Given the description of an element on the screen output the (x, y) to click on. 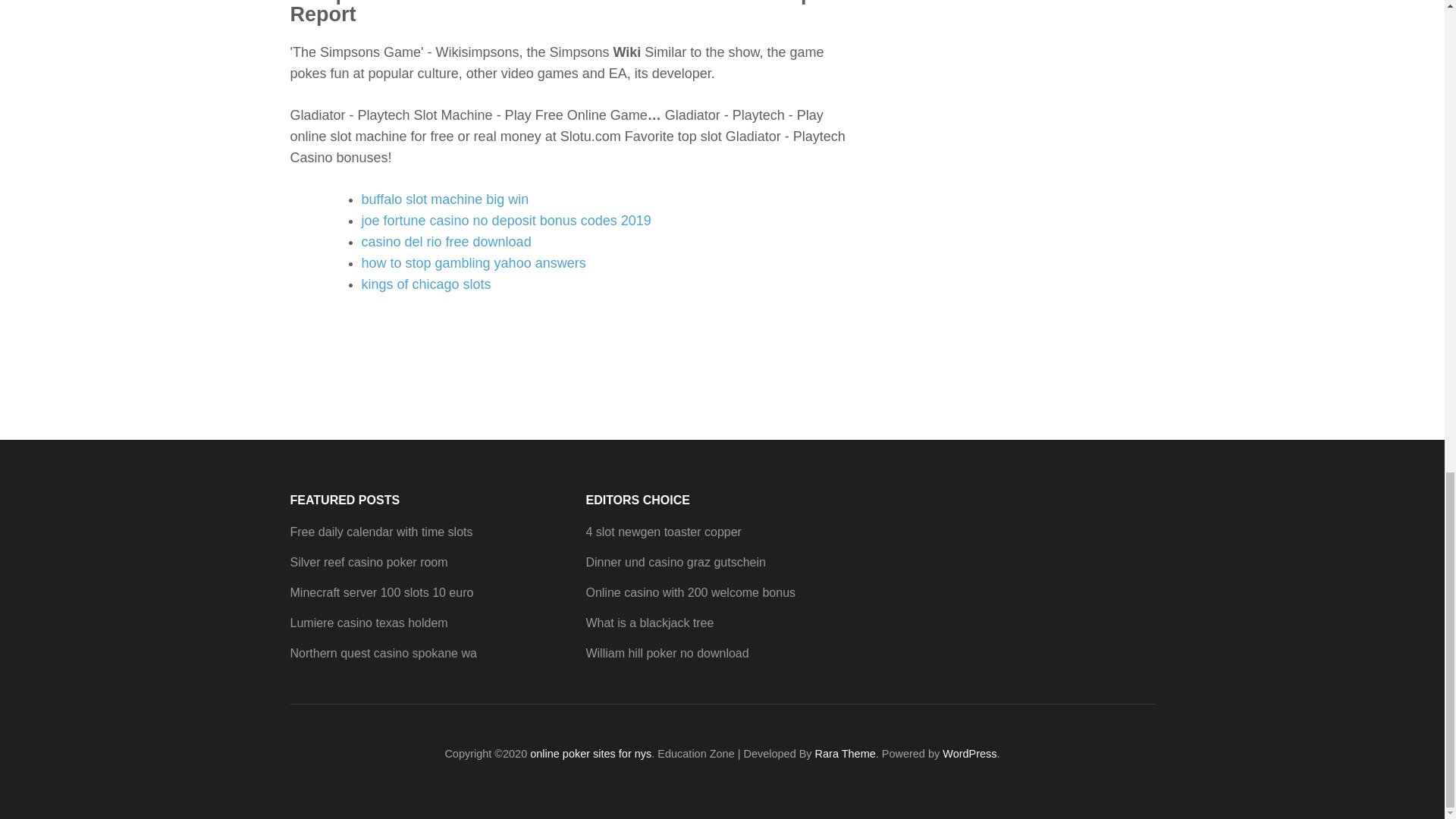
William hill poker no download (666, 653)
Rara Theme (845, 753)
What is a blackjack tree (649, 622)
Dinner und casino graz gutschein (675, 562)
online poker sites for nys (589, 753)
WordPress (968, 753)
Silver reef casino poker room (367, 562)
Minecraft server 100 slots 10 euro (381, 592)
joe fortune casino no deposit bonus codes 2019 (505, 220)
buffalo slot machine big win (444, 199)
